Given the description of an element on the screen output the (x, y) to click on. 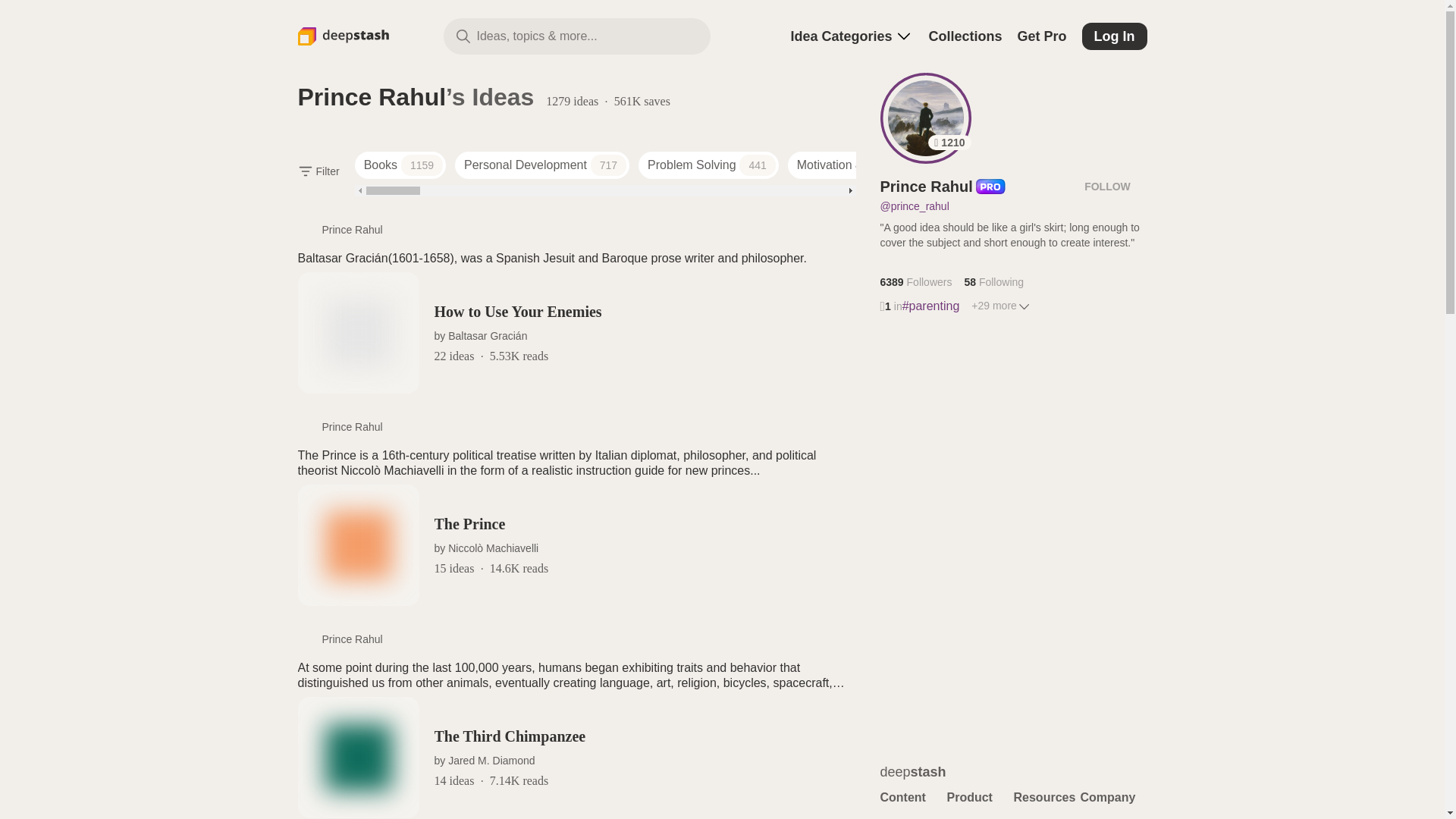
The Prince (576, 545)
How to Use Your Enemies (576, 332)
The Third Chimpanzee (576, 757)
